Given the description of an element on the screen output the (x, y) to click on. 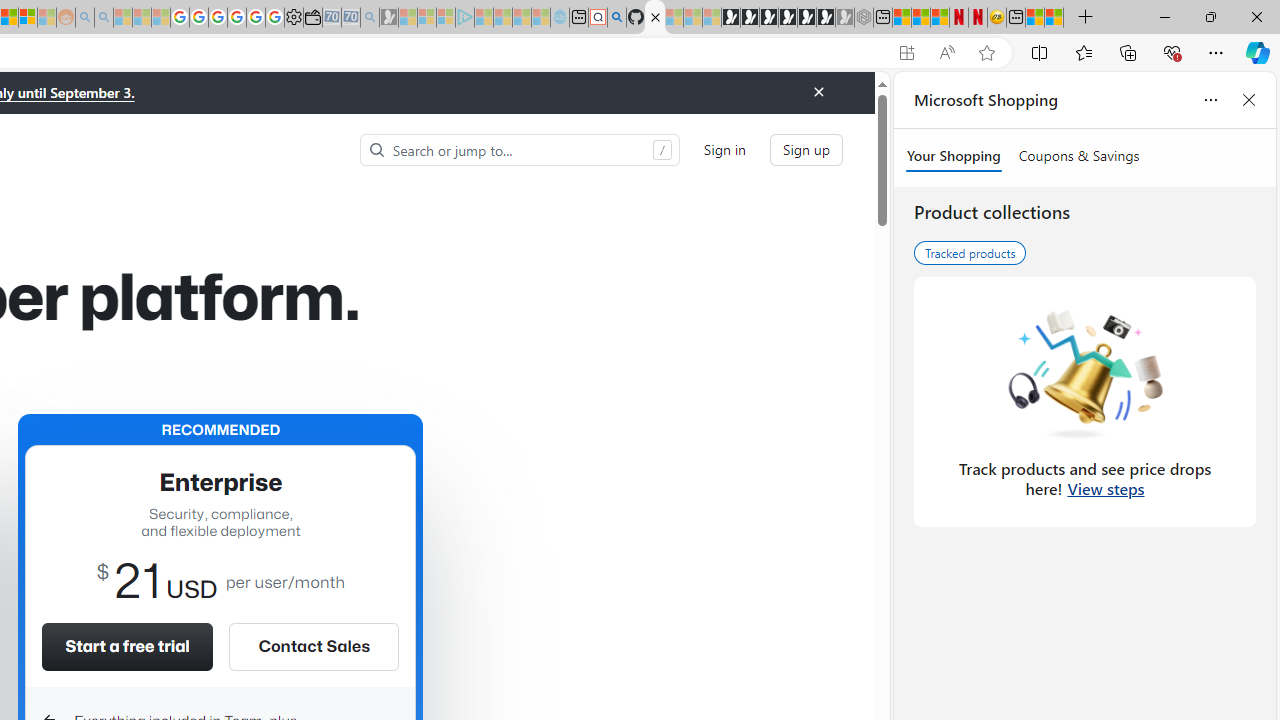
Contact Sales (313, 646)
